Given the description of an element on the screen output the (x, y) to click on. 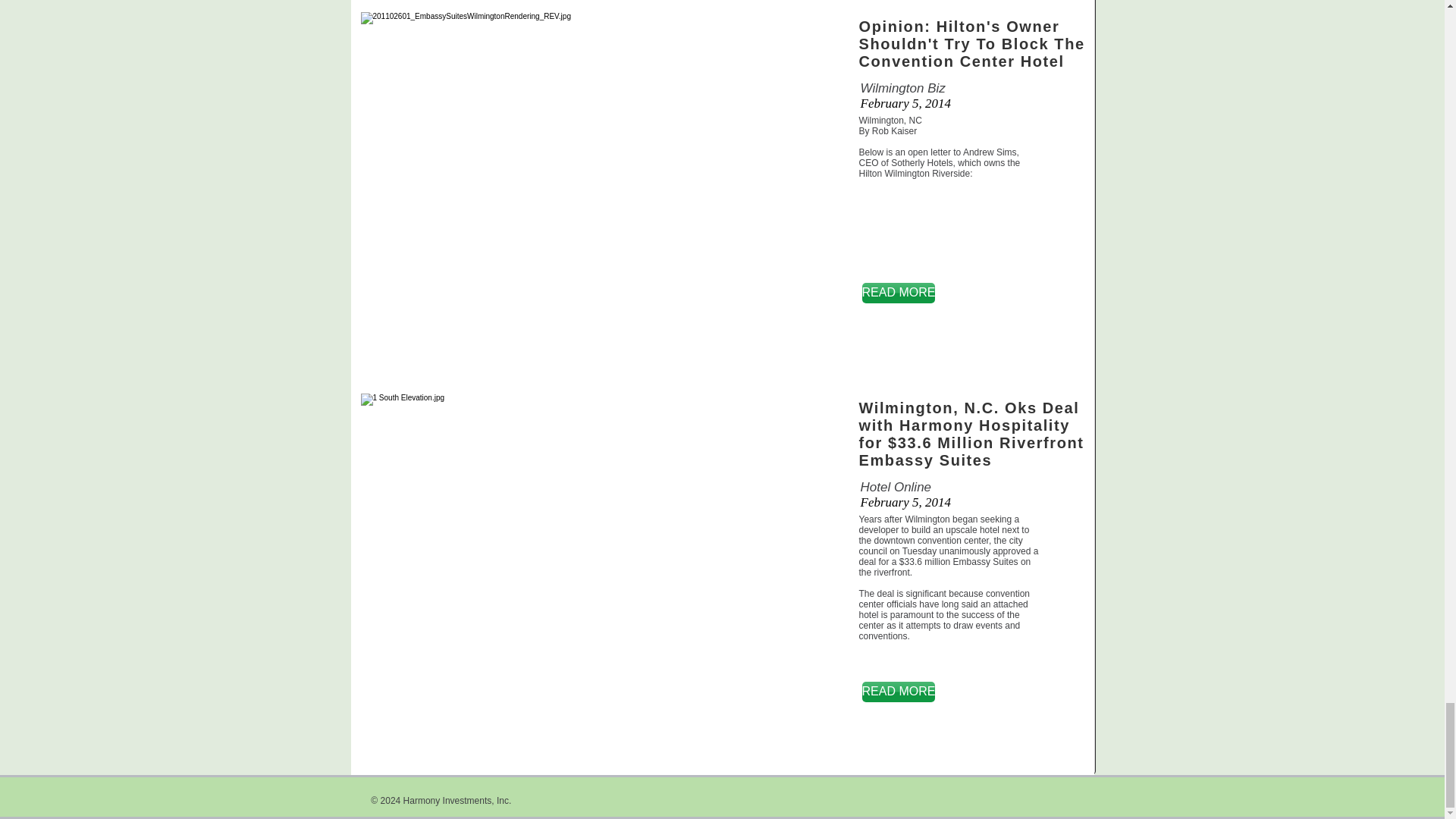
READ MORE (897, 691)
READ MORE (897, 292)
